Given the description of an element on the screen output the (x, y) to click on. 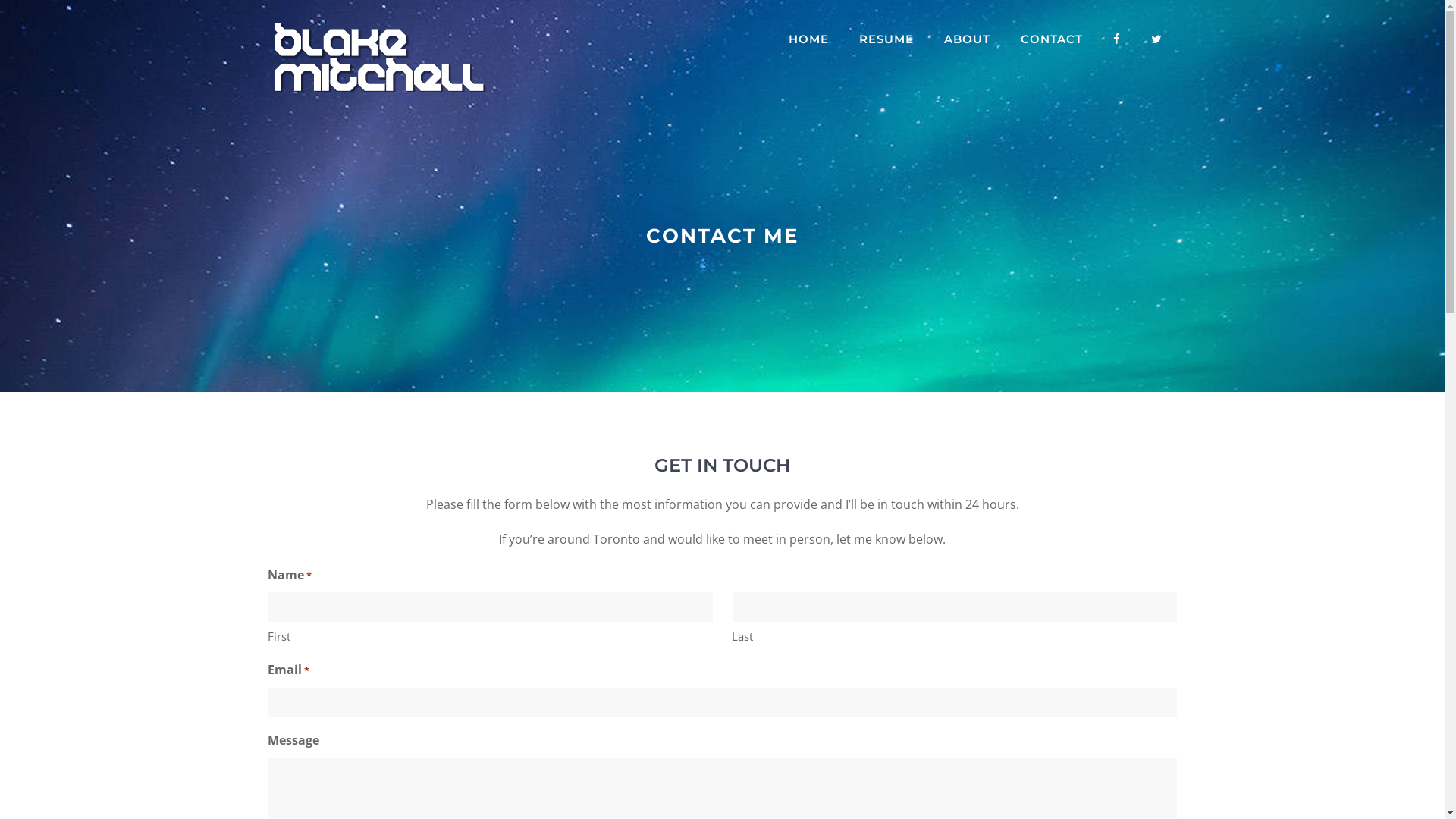
ABOUT Element type: text (966, 39)
FACEBOOK Element type: text (1116, 39)
RESUME Element type: text (885, 39)
TWITTER Element type: text (1156, 39)
CONTACT Element type: text (1051, 39)
Blake Mitchell SEO Element type: hover (387, 55)
HOME Element type: text (808, 39)
Blake Mitchell SEO Element type: hover (387, 56)
Skip to content Element type: text (0, 0)
